Given the description of an element on the screen output the (x, y) to click on. 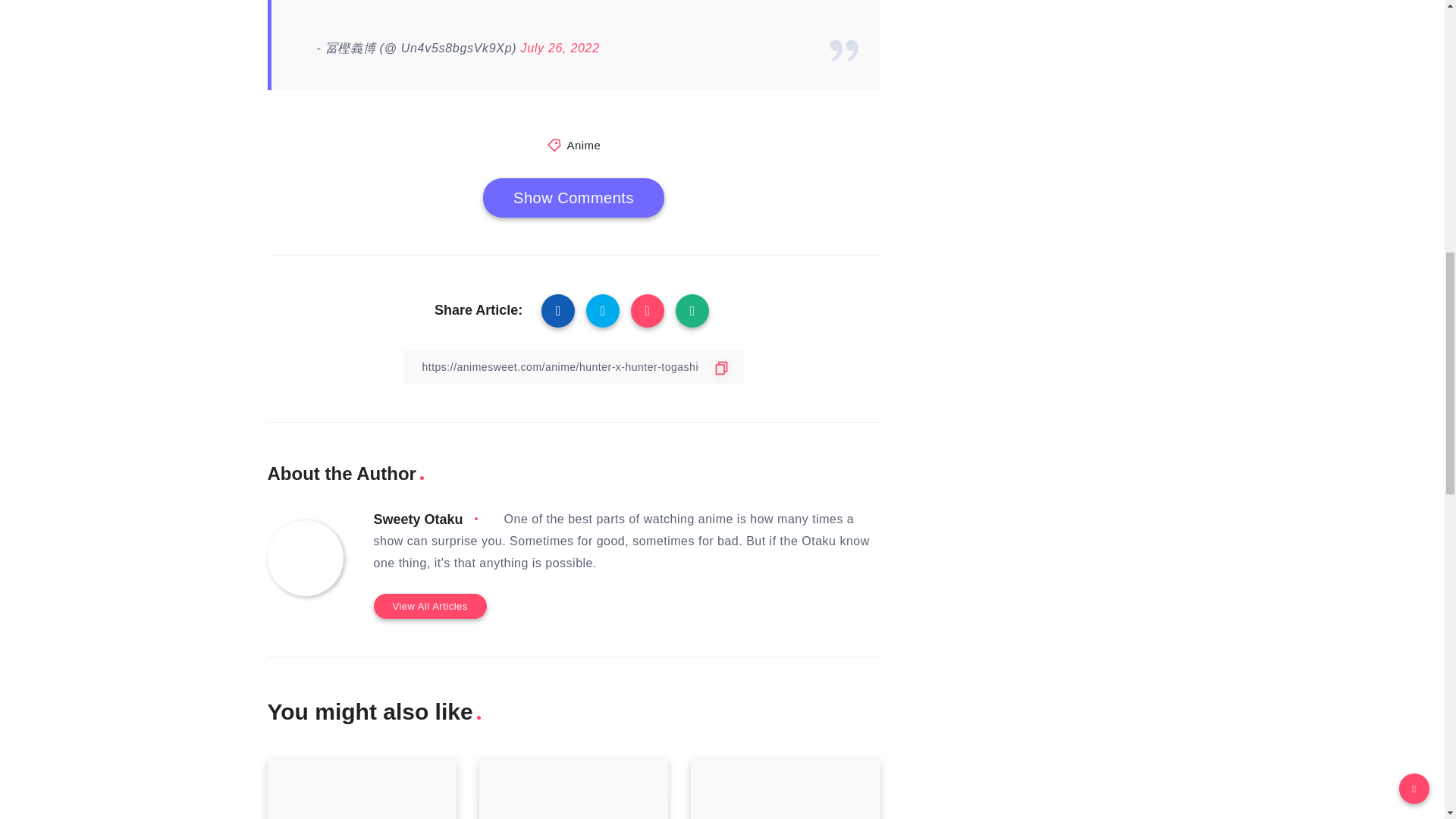
Anime (582, 144)
Tokyo Revengers will have a new sequel (784, 789)
View All Articles (429, 606)
July 26, 2022 (558, 47)
Third Season of Spy x Family Officially Announced (573, 789)
Sweety Otaku (417, 519)
Show Comments (573, 197)
